Given the description of an element on the screen output the (x, y) to click on. 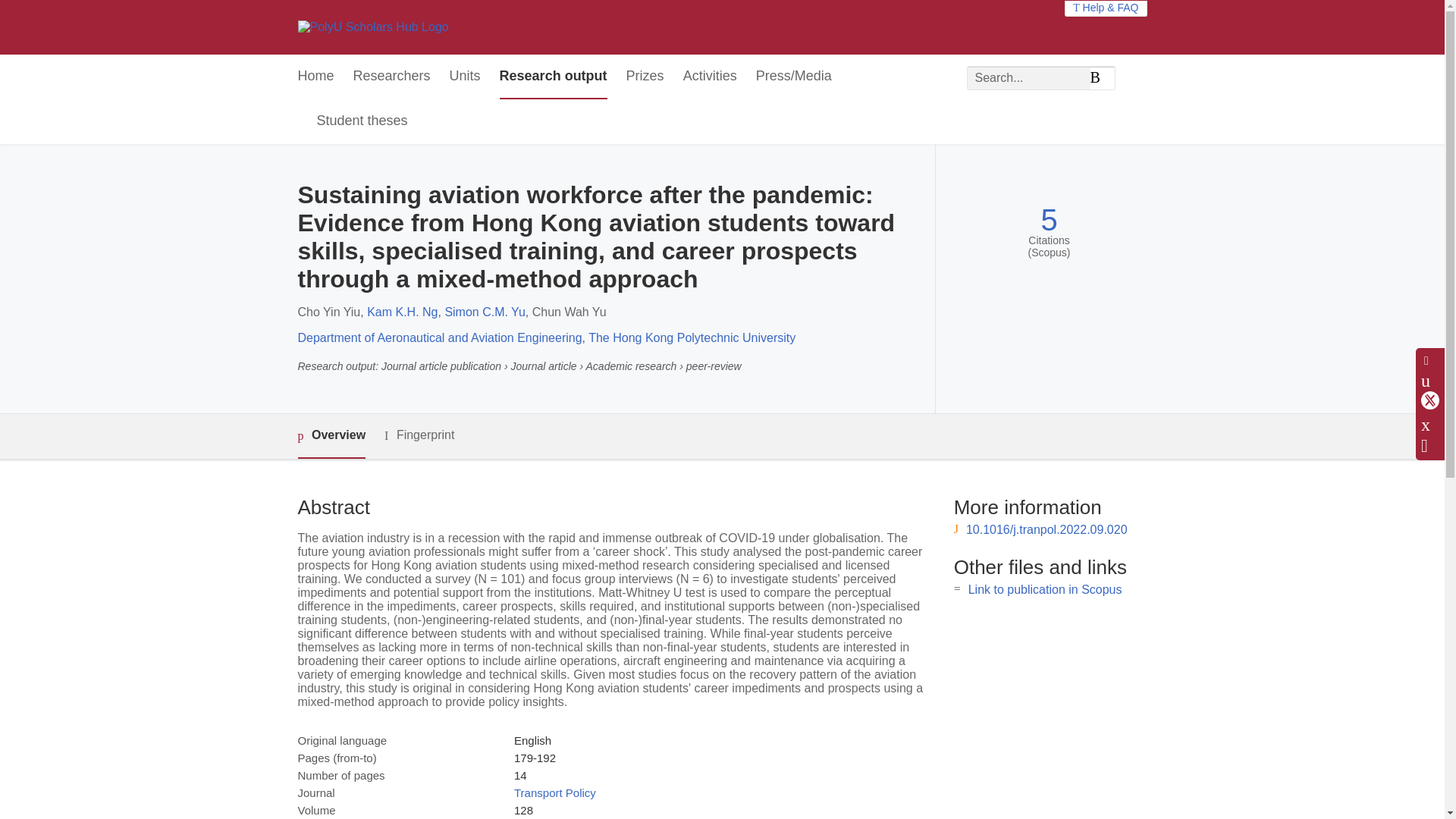
Kam K.H. Ng (402, 311)
Student theses (362, 121)
Fingerprint (419, 435)
Simon C.M. Yu (484, 311)
The Hong Kong Polytechnic University (691, 337)
Link to publication in Scopus (1045, 589)
PolyU Scholars Hub Home (372, 27)
Researchers (391, 76)
Department of Aeronautical and Aviation Engineering (438, 337)
